Given the description of an element on the screen output the (x, y) to click on. 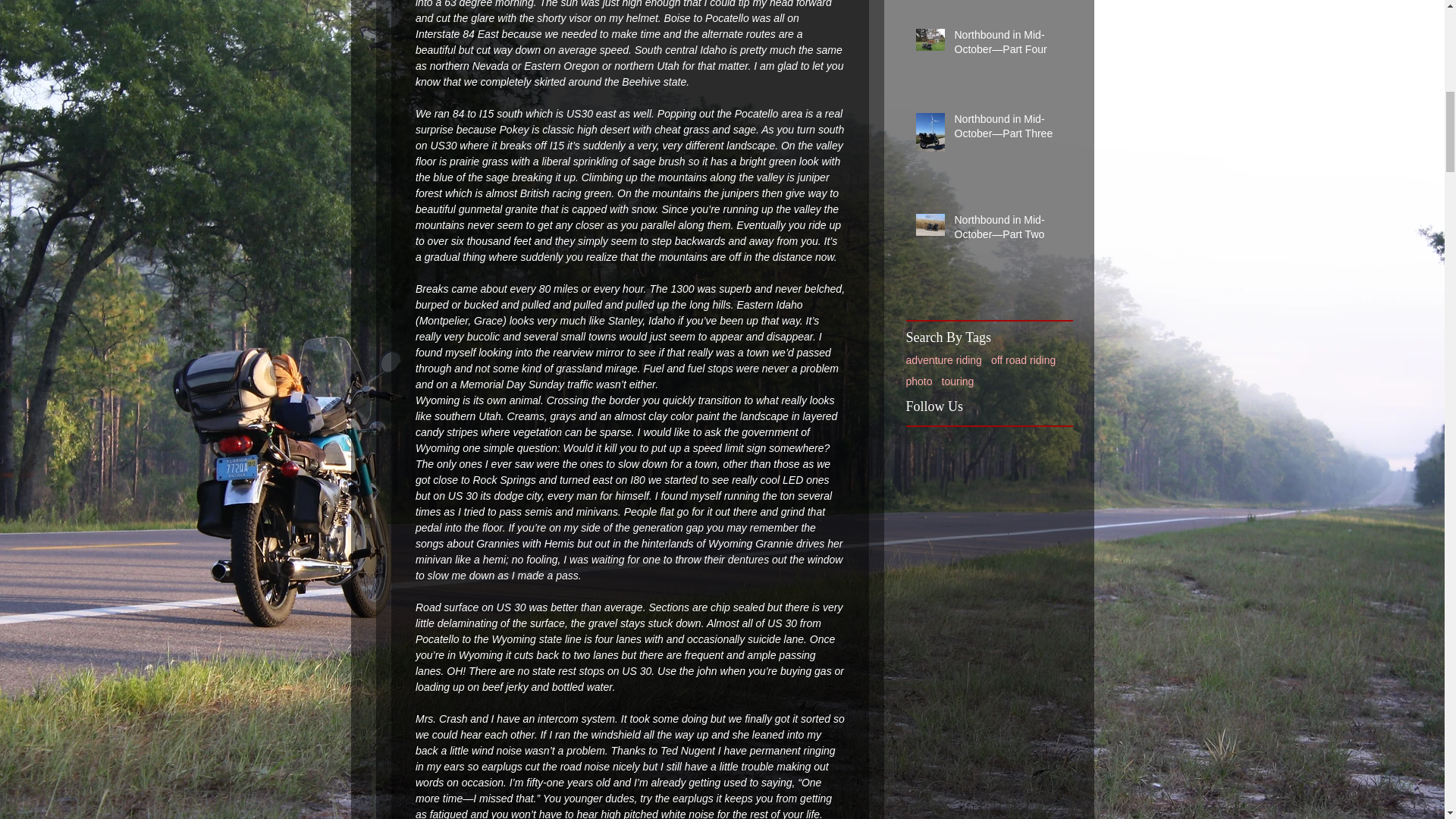
touring (958, 381)
off road riding (1023, 359)
photo (918, 381)
adventure riding (943, 359)
